Given the description of an element on the screen output the (x, y) to click on. 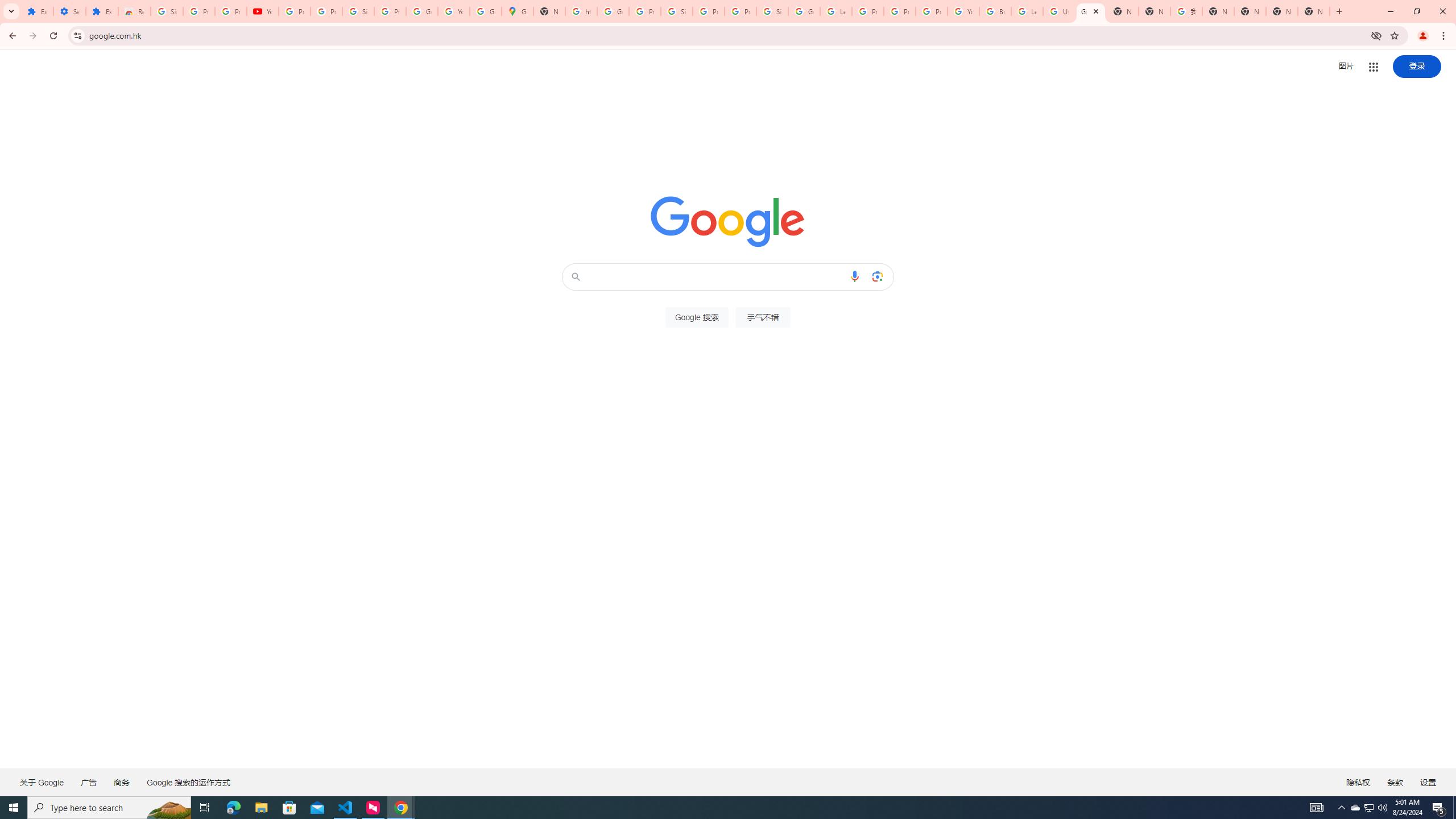
YouTube (262, 11)
New Tab (1123, 11)
